Given the description of an element on the screen output the (x, y) to click on. 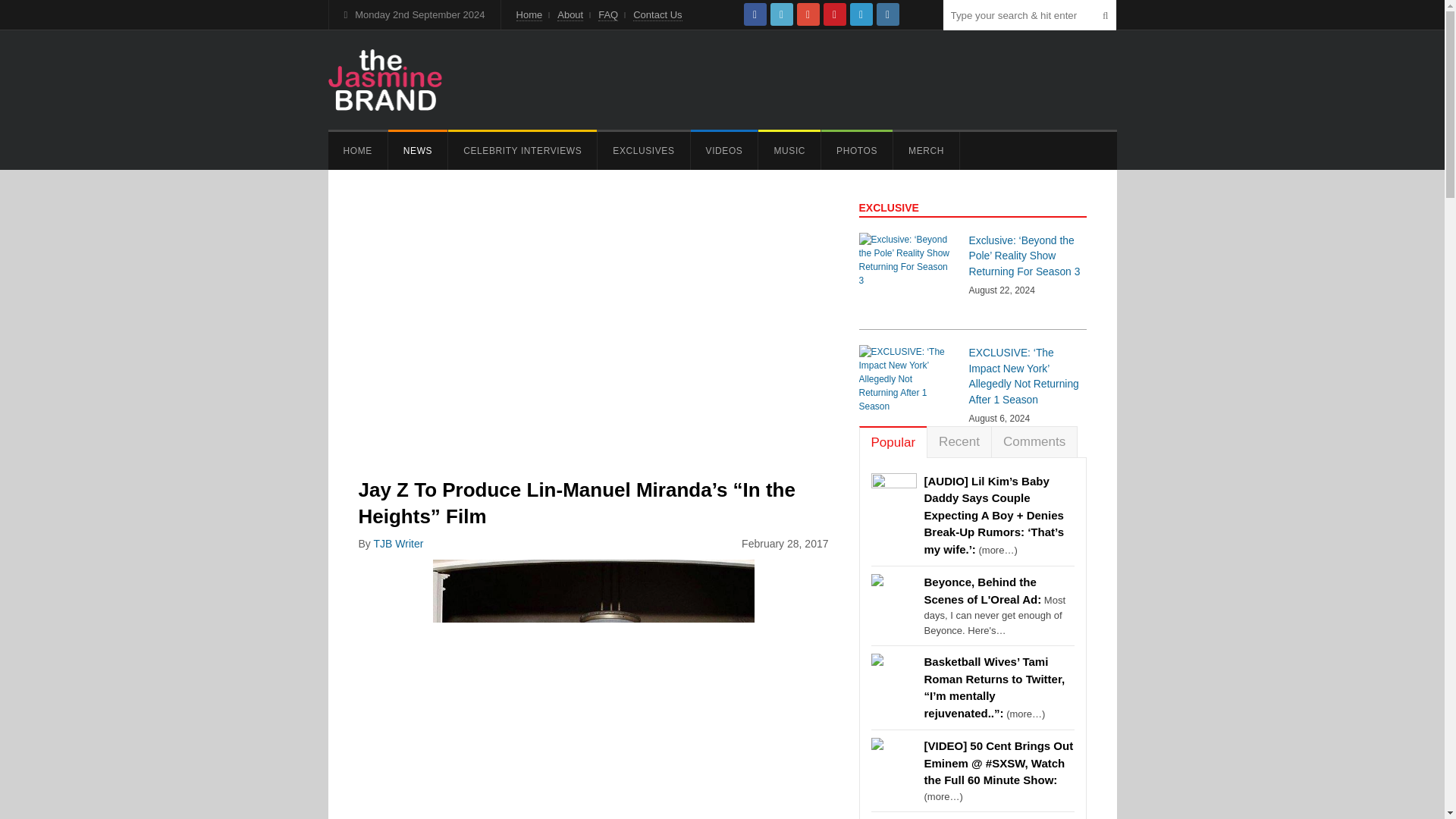
FAQ (607, 15)
News (417, 150)
TJB Writer (397, 543)
About (570, 15)
Instagram (887, 14)
EXCLUSIVES (642, 150)
Contact Us (657, 15)
theJasmineBRAND (384, 79)
Posts by TJB Writer (397, 543)
Home (357, 150)
